Given the description of an element on the screen output the (x, y) to click on. 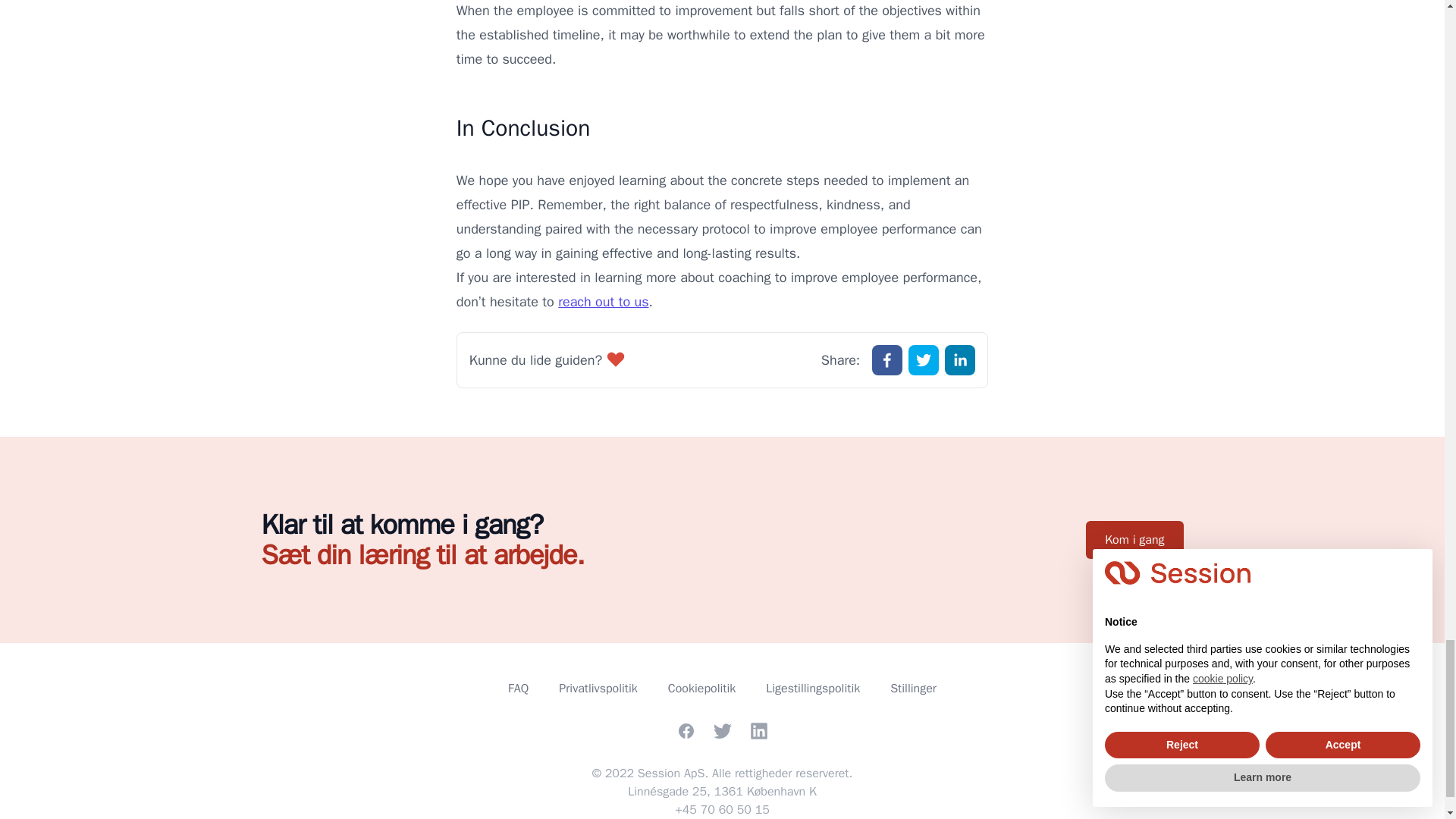
Ligestillingspolitik (812, 688)
Kom i gang (1134, 539)
Twitter (721, 730)
Facebook (685, 730)
Stillinger (912, 688)
reach out to us (602, 301)
Privatlivspolitik (598, 688)
LinkedIn (758, 730)
Cookiepolitik (701, 688)
FAQ (518, 688)
